Given the description of an element on the screen output the (x, y) to click on. 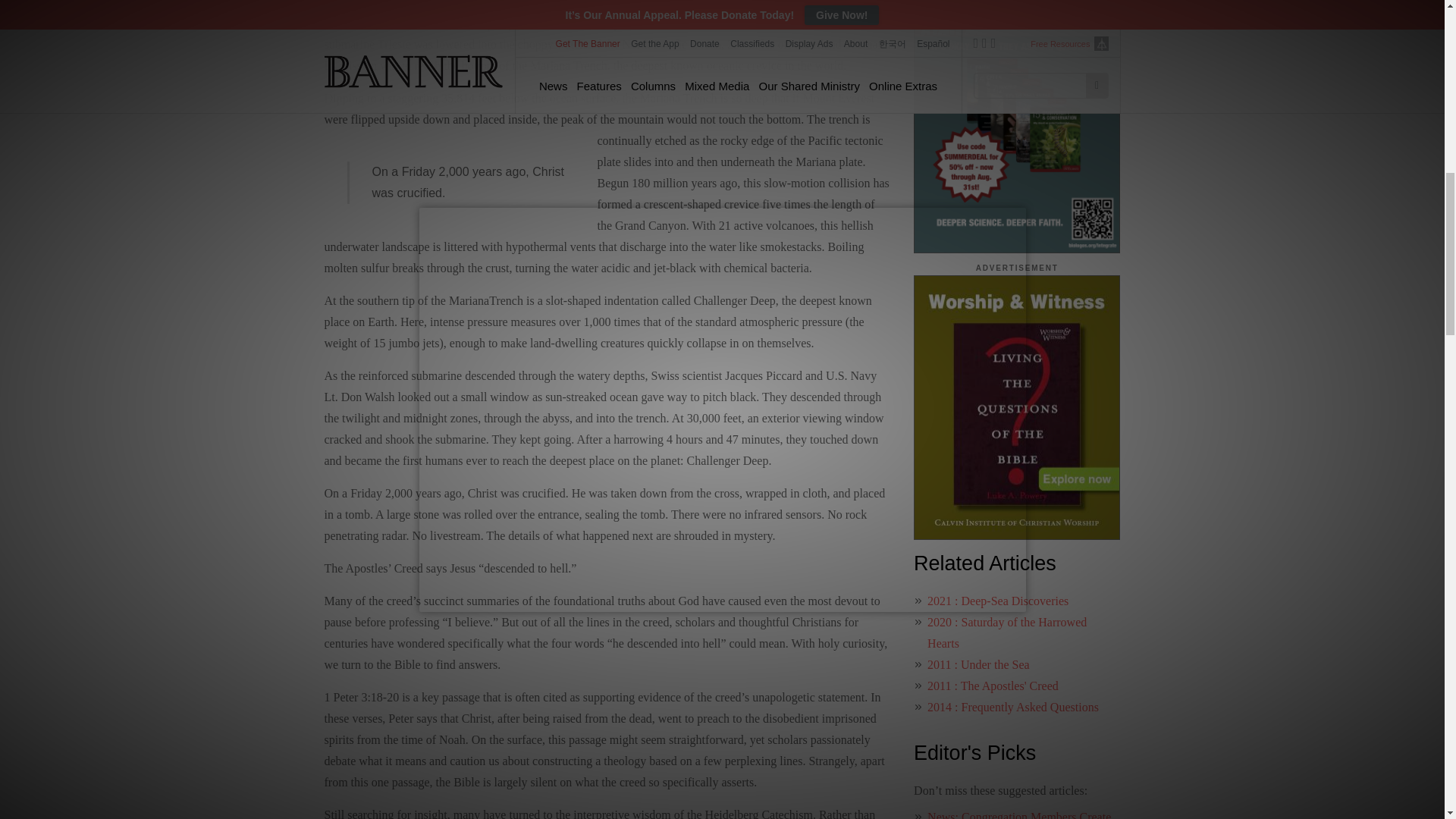
News: Congregation Members Create Sermon Illustrations (1018, 814)
2020 : Saturday of the Harrowed Hearts (1006, 632)
2014 : Frequently Asked Questions (1013, 707)
2021 : Deep-Sea Discoveries (997, 600)
2011 : The Apostles' Creed (992, 685)
2011 : Under the Sea (978, 664)
